Given the description of an element on the screen output the (x, y) to click on. 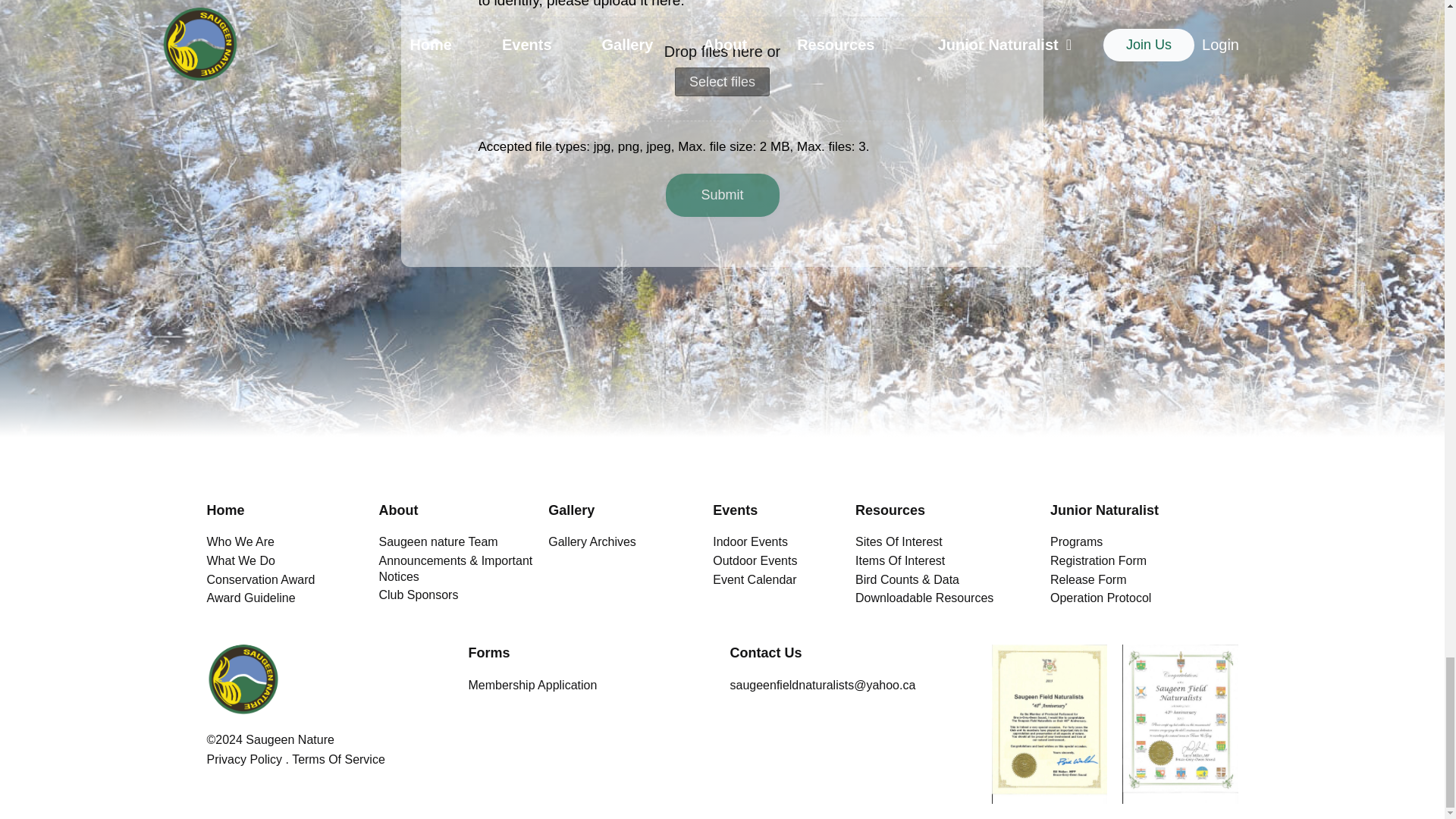
Submit (721, 195)
